Given the description of an element on the screen output the (x, y) to click on. 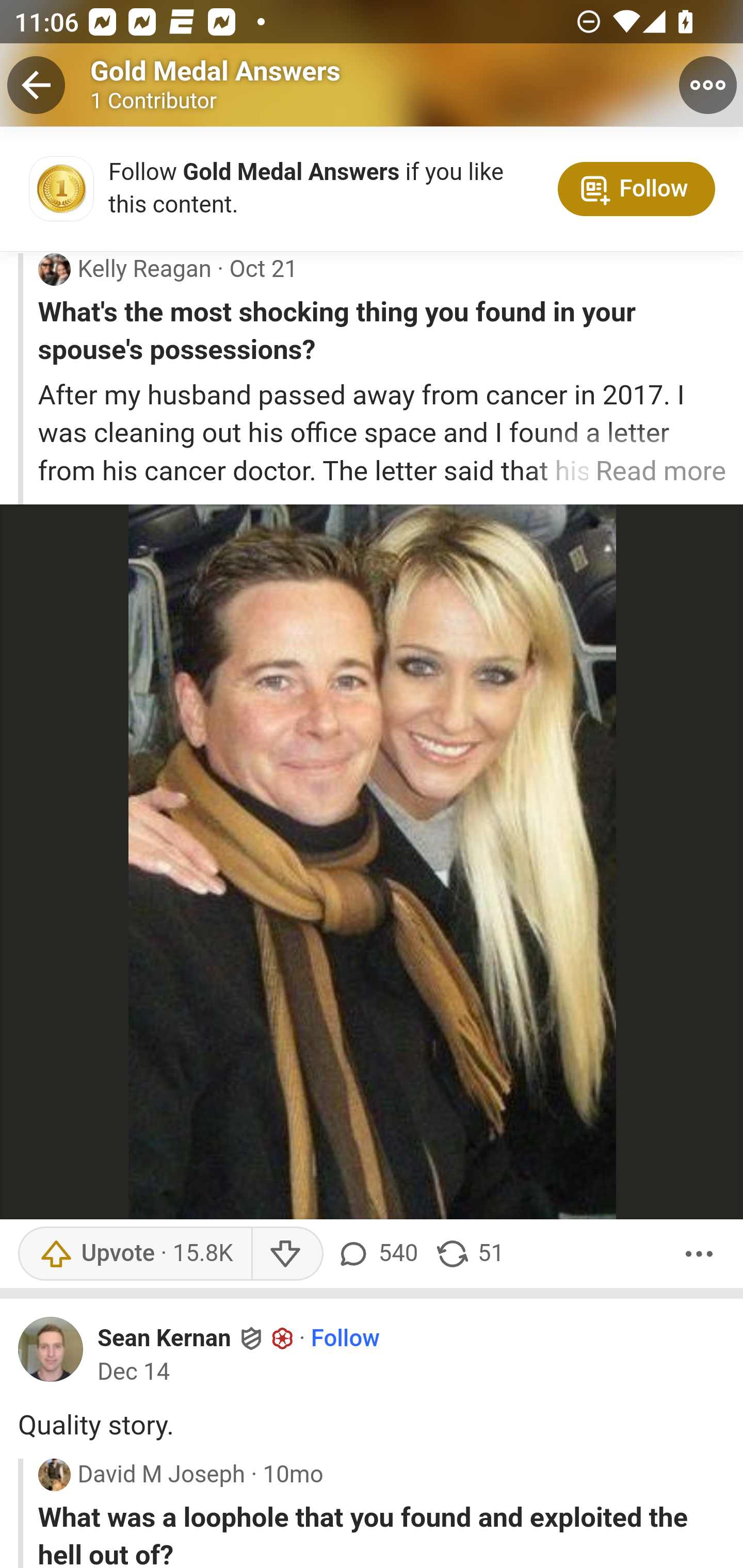
Profile photo for Kelly Reagan (54, 269)
Upvote (134, 1254)
Downvote (287, 1254)
540 comments (379, 1254)
51 shares (468, 1254)
More (699, 1254)
Profile photo for Sean Kernan (50, 1350)
Sean Kernan Sean Kernan     Space subscriber (195, 1339)
Follow (345, 1339)
Space subscriber (282, 1339)
Profile photo for David M Joseph (54, 1475)
